Given the description of an element on the screen output the (x, y) to click on. 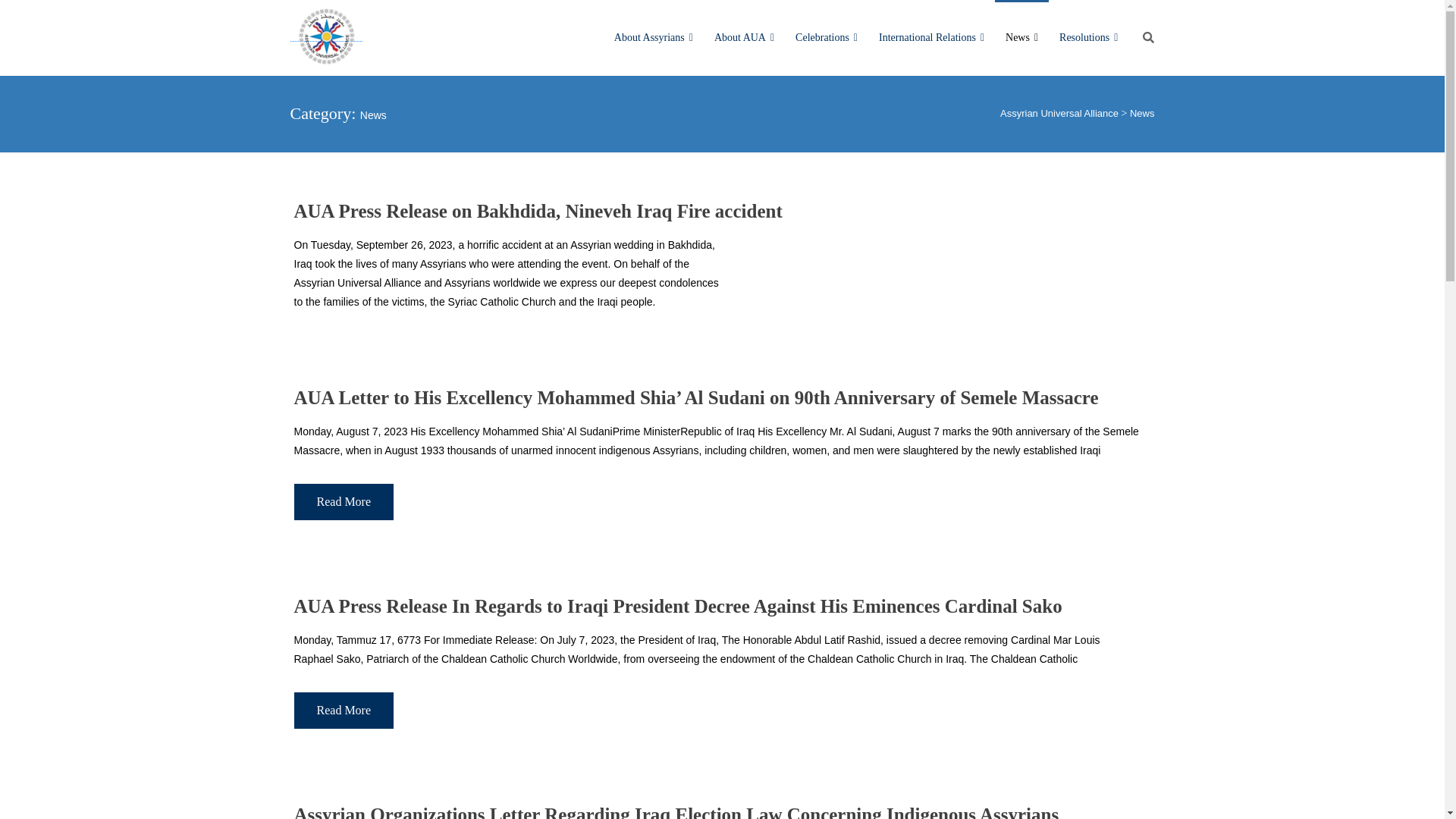
About AUA (743, 38)
Celebrations (825, 38)
International Relations (930, 38)
Resolutions (1088, 38)
About Assyrians (653, 38)
Go to Assyrian Universal Alliance. (1059, 112)
